Given the description of an element on the screen output the (x, y) to click on. 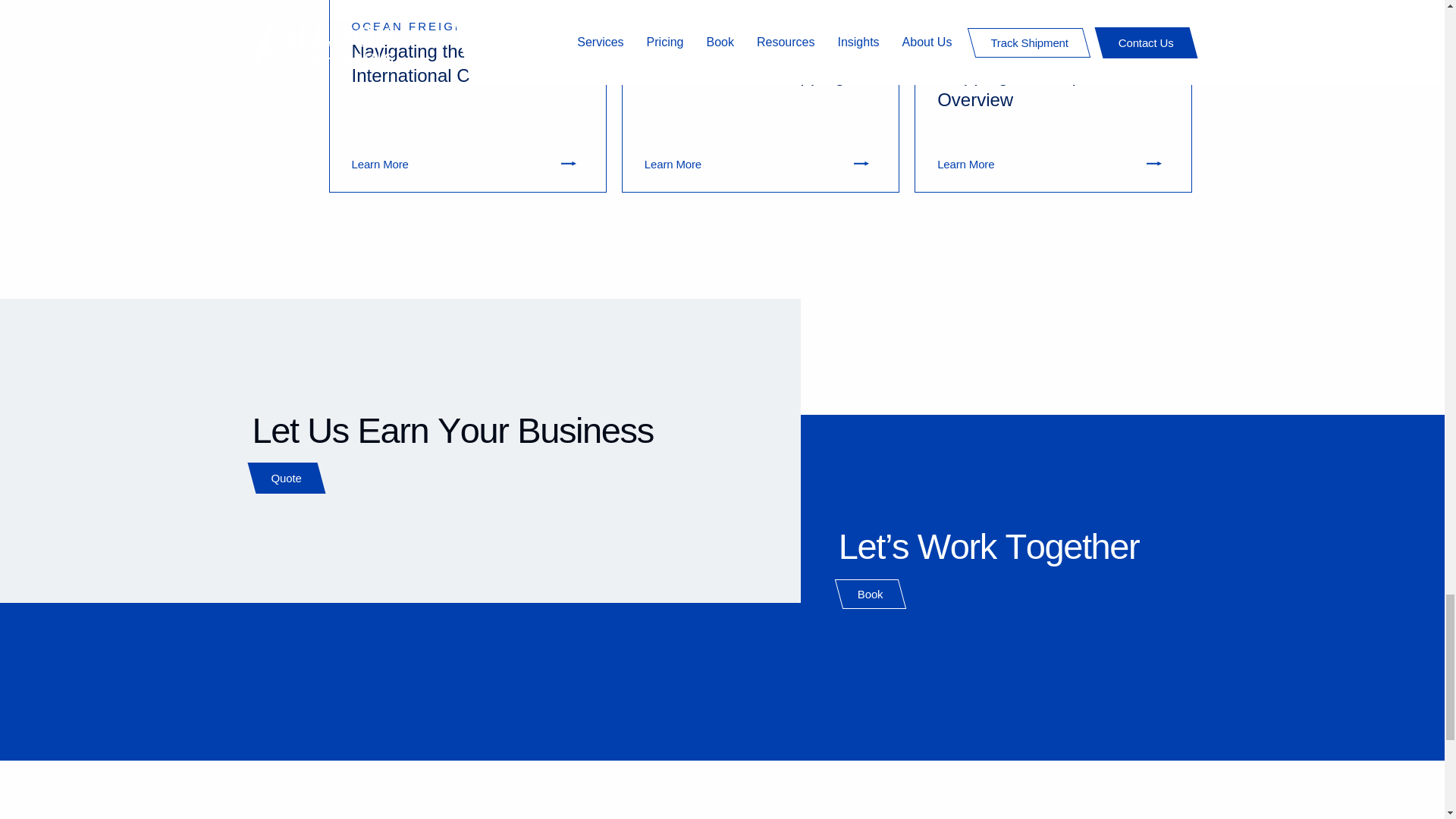
Book (870, 594)
Quote (285, 478)
